Given the description of an element on the screen output the (x, y) to click on. 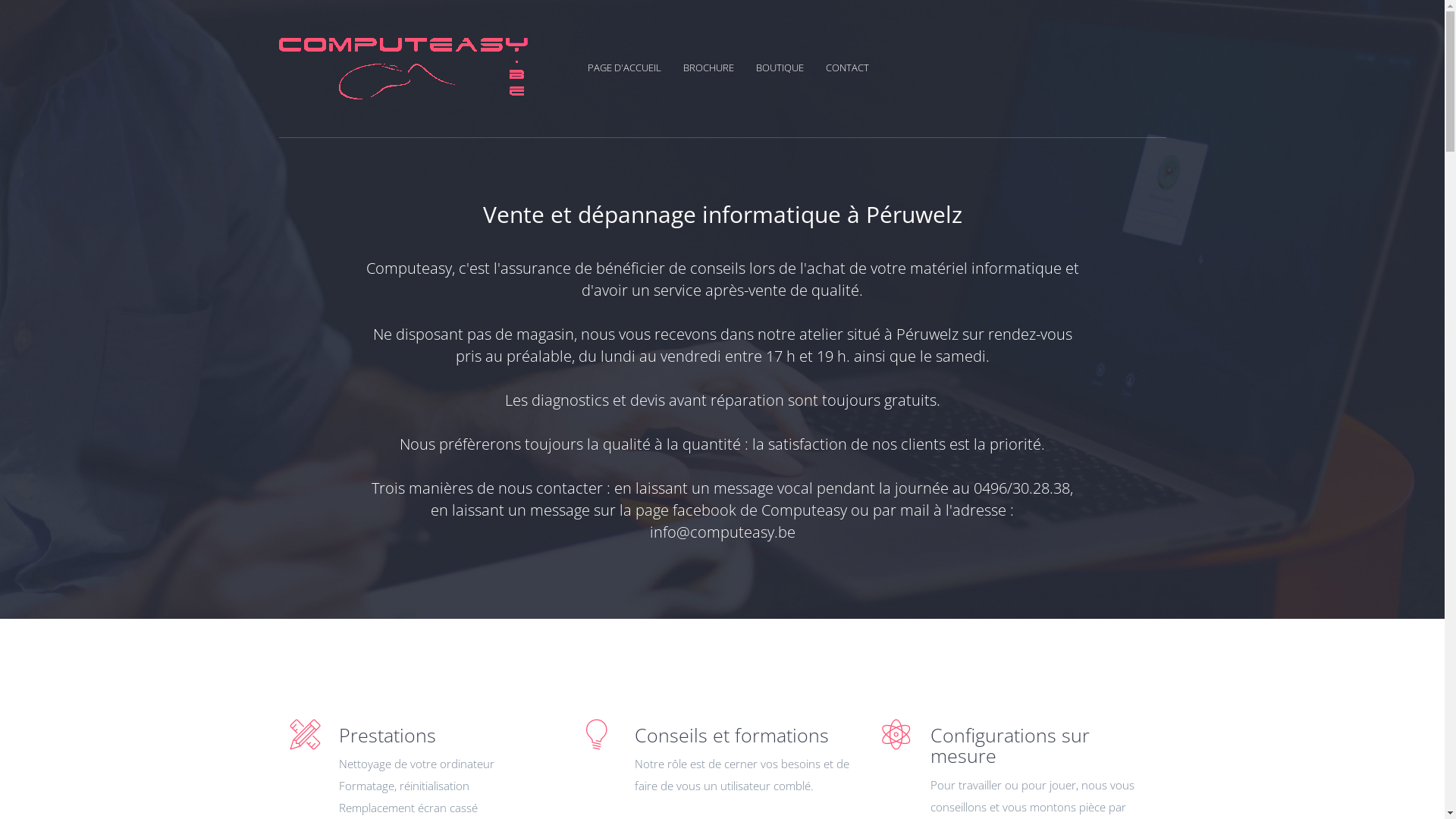
BROCHURE Element type: text (717, 67)
PAGE D'ACCUEIL Element type: text (632, 67)
CONTACT Element type: text (846, 67)
BOUTIQUE Element type: text (788, 67)
